Given the description of an element on the screen output the (x, y) to click on. 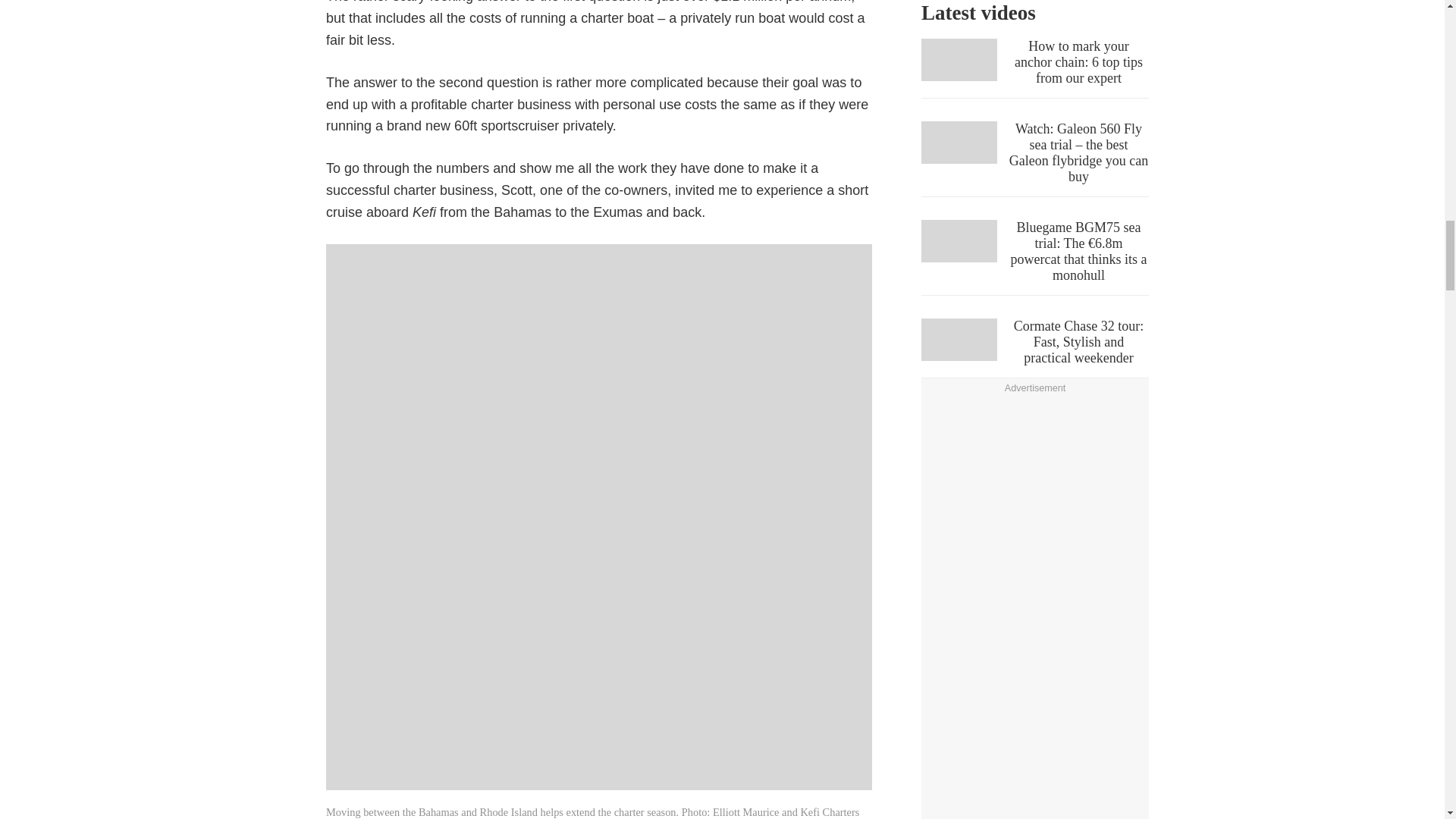
Cormate Chase 32 tour: Fast, Stylish and practical weekender (1034, 348)
How to mark your anchor chain: 6 top tips from our expert (1034, 68)
